Given the description of an element on the screen output the (x, y) to click on. 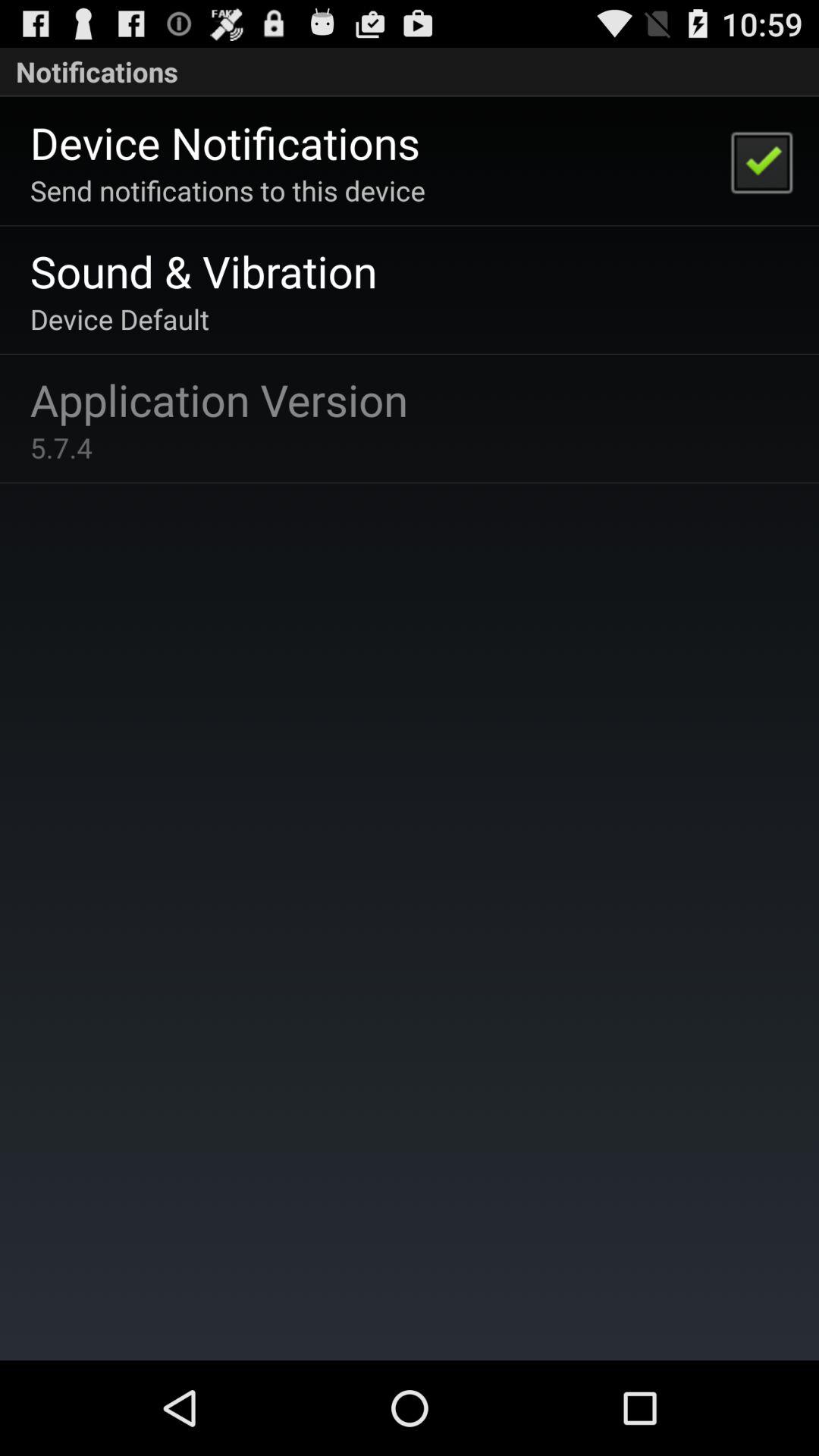
click the app below application version app (61, 447)
